Given the description of an element on the screen output the (x, y) to click on. 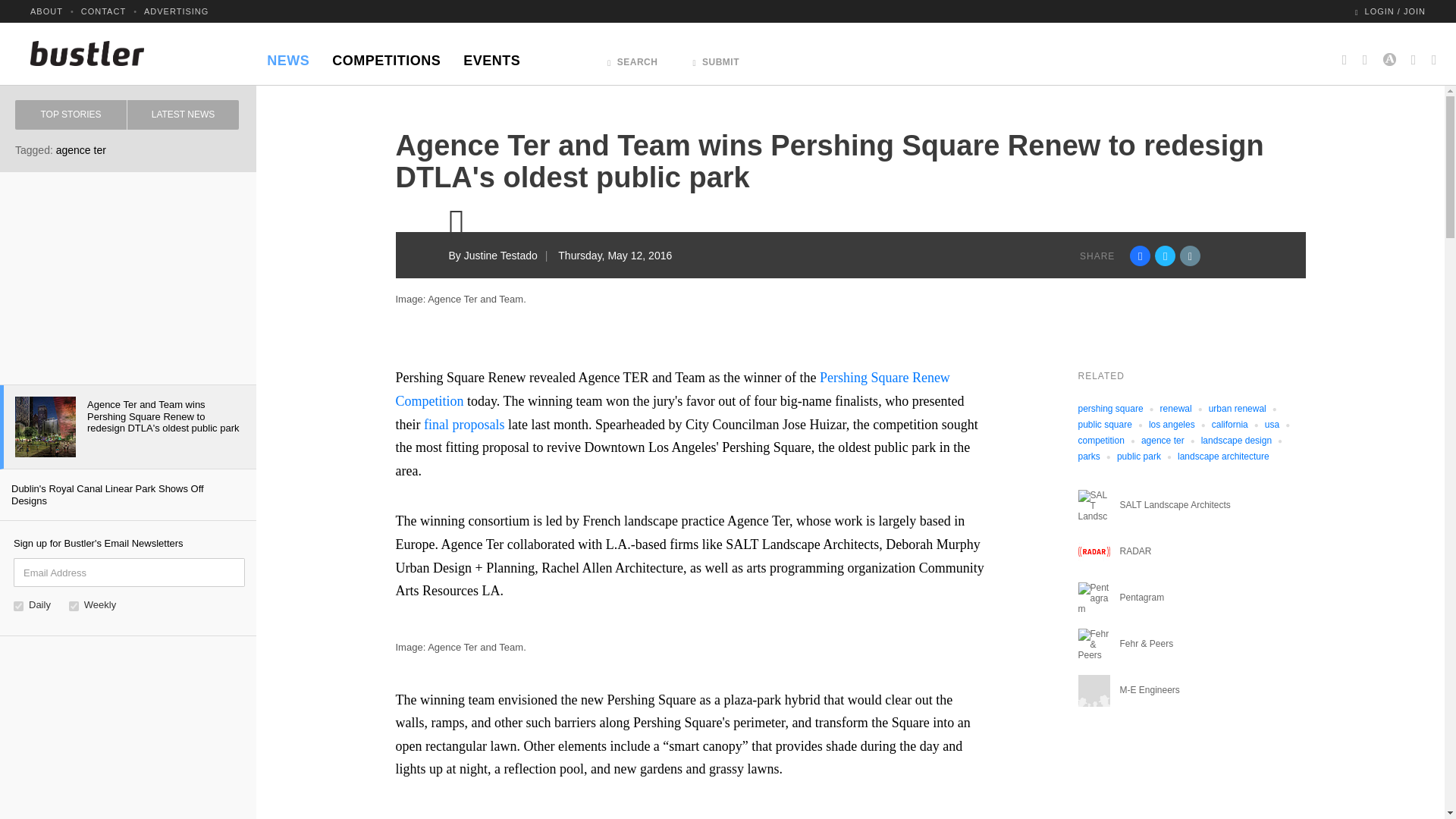
Bustler on Facebook (1345, 53)
Newsletter Signup (1413, 53)
EVENTS (491, 56)
RSS Feeds (1430, 53)
ABOUT (46, 10)
COMPETITIONS (385, 56)
SUBMIT (715, 57)
SEARCH (632, 57)
Bustler on Twitter (1365, 53)
NEWS (288, 56)
Bustler is powered by Archinect (1389, 53)
CONTACT (103, 10)
ADVERTISING (176, 10)
